Given the description of an element on the screen output the (x, y) to click on. 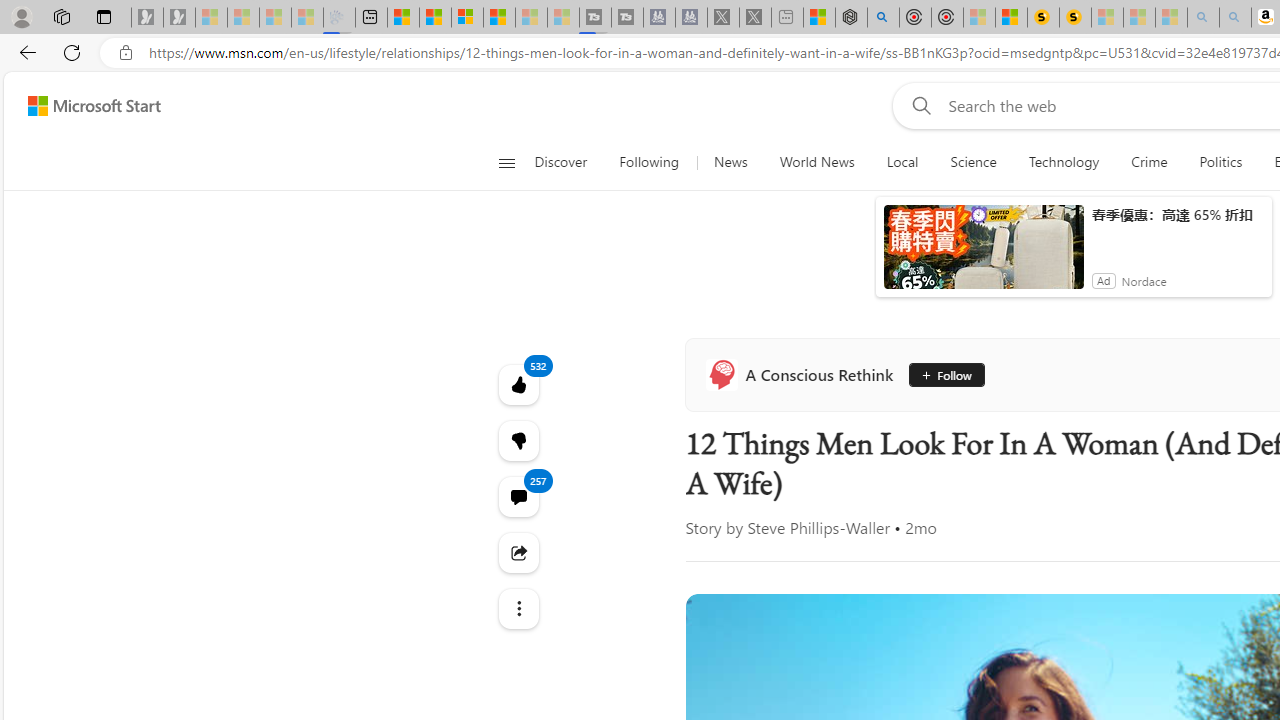
Nordace - Summer Adventures 2024 (840, 17)
AutomationID: tab-27 (874, 576)
Import favorites (65, 88)
amazon - Search - Sleeping (1180, 17)
4k Like (1154, 574)
Should I save recovered Word documents? - Microsoft Support (913, 88)
3 Like (528, 574)
The Manual (1138, 475)
49 Like (1149, 574)
Amazon Echo Dot PNG - Search Images - Sleeping (1211, 17)
Overview (466, 17)
Gaming (945, 265)
AutomationID: tab-19 (810, 576)
Microsoft start (142, 138)
